Given the description of an element on the screen output the (x, y) to click on. 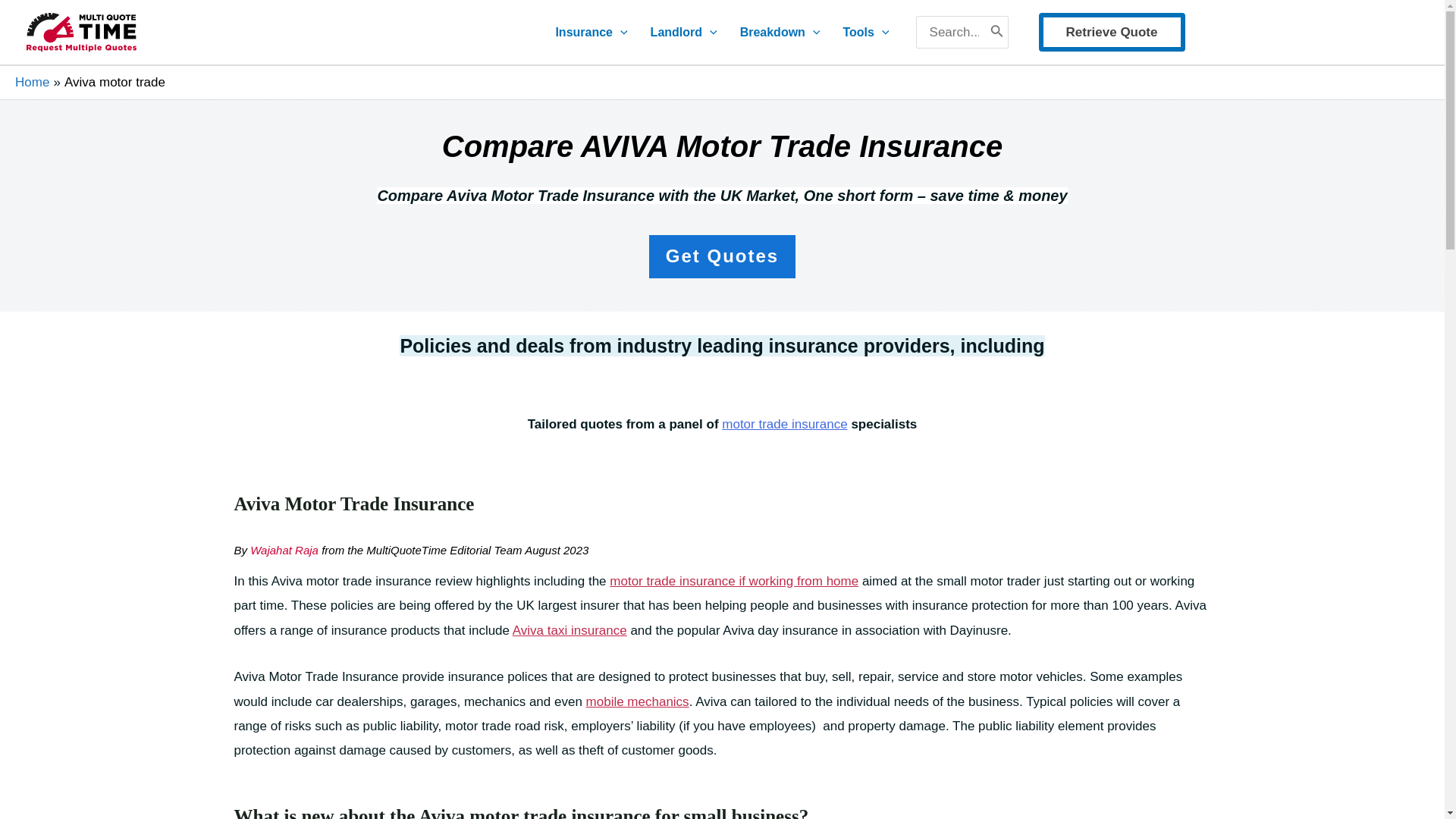
motor trade insurance (784, 423)
Insurance (591, 31)
